Given the description of an element on the screen output the (x, y) to click on. 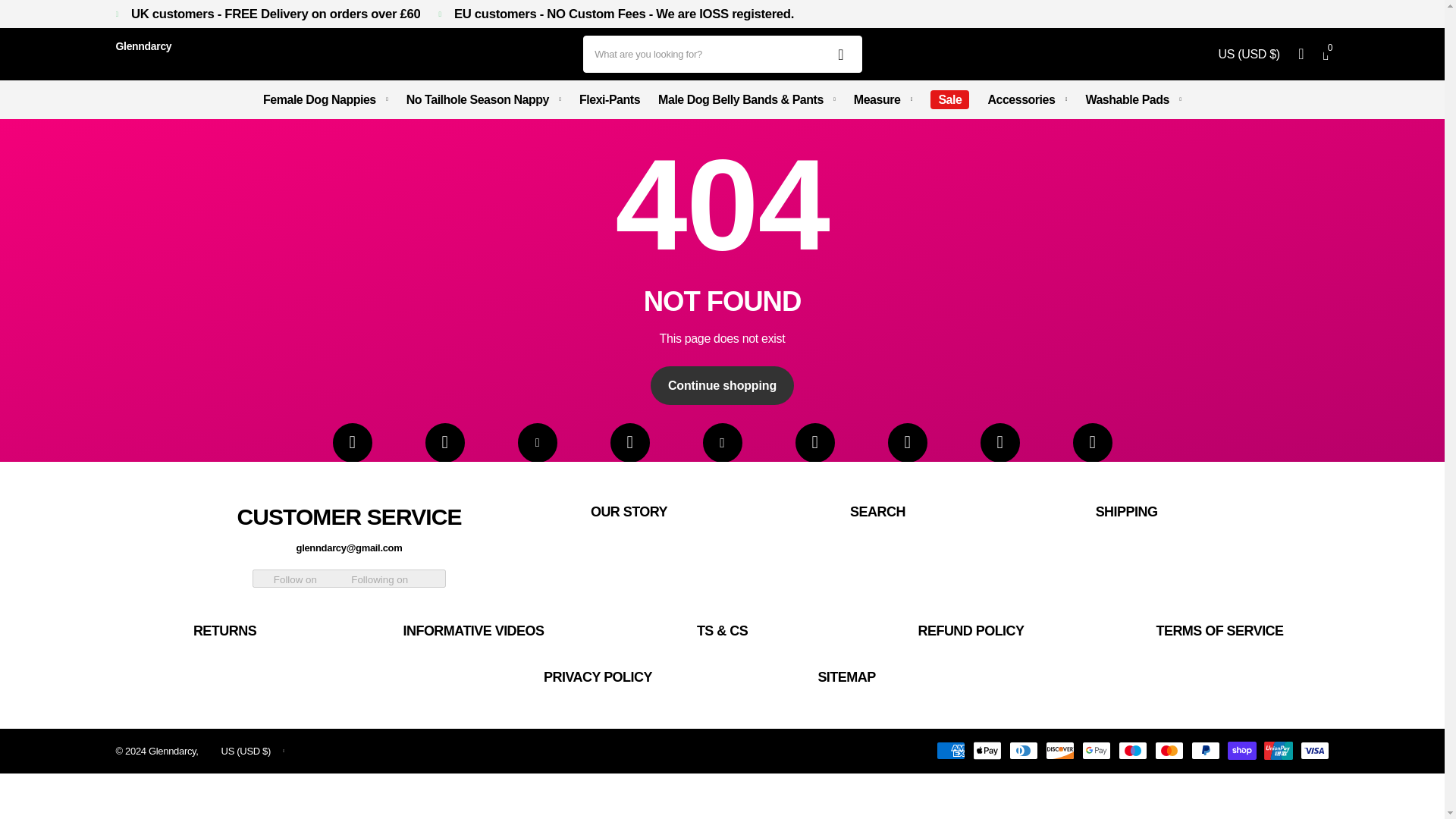
Maestro (1132, 751)
PayPal (1205, 751)
Google Pay (1095, 751)
Union Pay (1277, 751)
American Express (949, 751)
Diners Club (1022, 751)
Discover (1059, 751)
Apple Pay (986, 751)
Visa (1313, 751)
Shop Pay (1241, 751)
Mastercard (1168, 751)
